Given the description of an element on the screen output the (x, y) to click on. 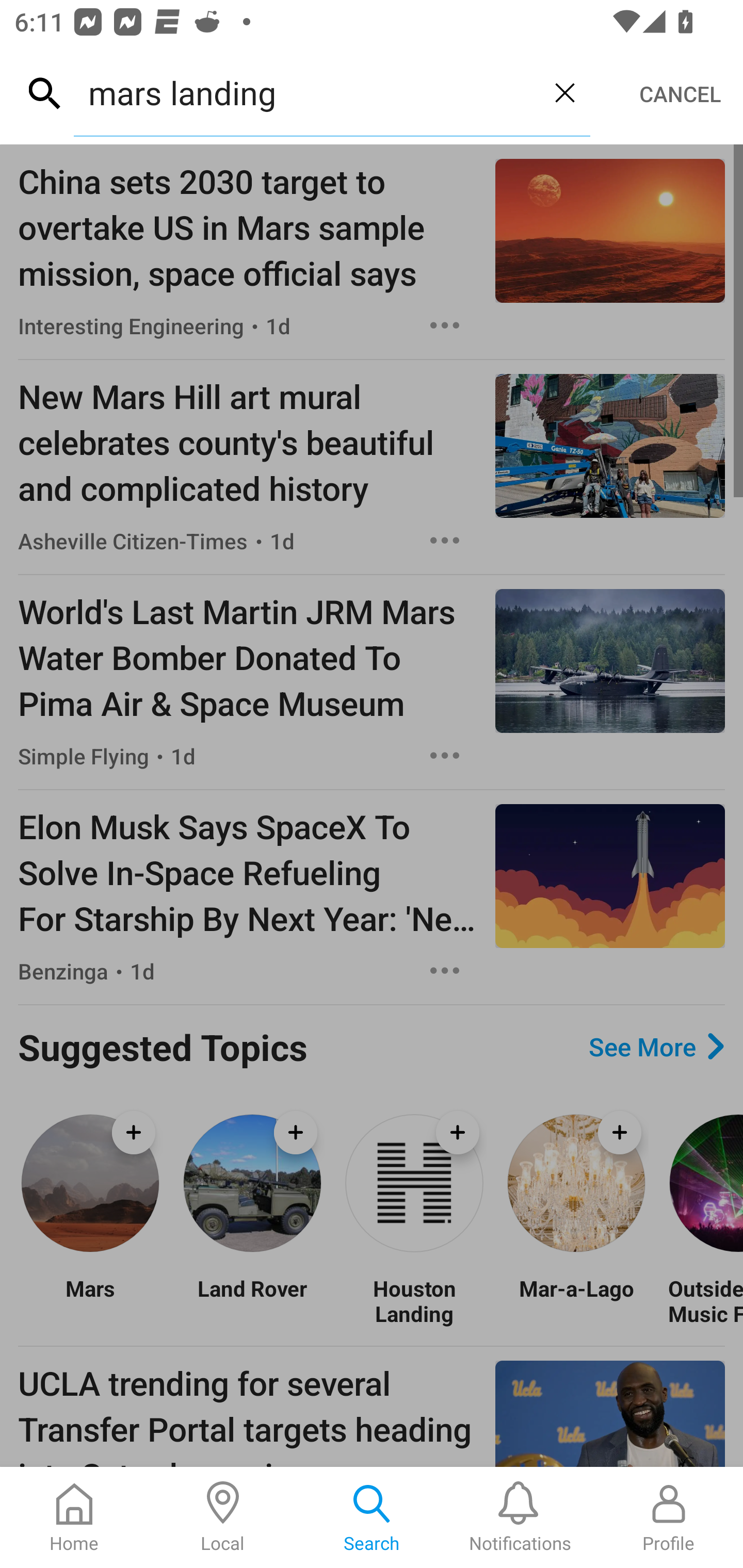
Clear query (564, 92)
CANCEL (680, 93)
mars landing (306, 92)
Options (444, 325)
Options (444, 540)
Options (444, 755)
Options (444, 970)
See More (656, 1046)
Mars (89, 1300)
Land Rover (251, 1300)
Houston Landing (413, 1300)
Mar-a-Lago (575, 1300)
Outside Lands Music Festival (704, 1300)
Home (74, 1517)
Local (222, 1517)
Notifications (519, 1517)
Profile (668, 1517)
